Given the description of an element on the screen output the (x, y) to click on. 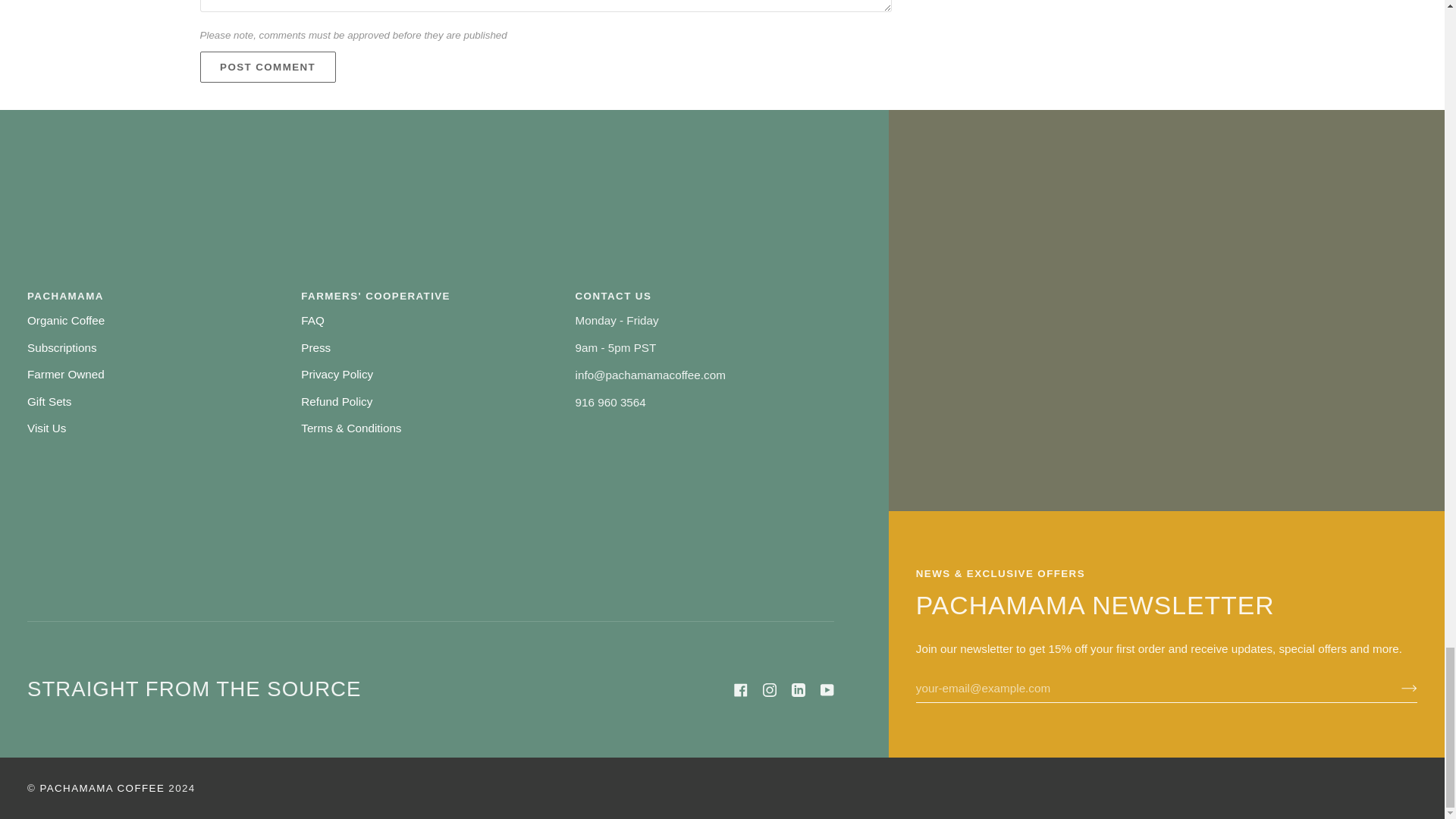
YouTube (827, 689)
Facebook (740, 689)
Linkedin (798, 689)
Instagram (769, 689)
